Given the description of an element on the screen output the (x, y) to click on. 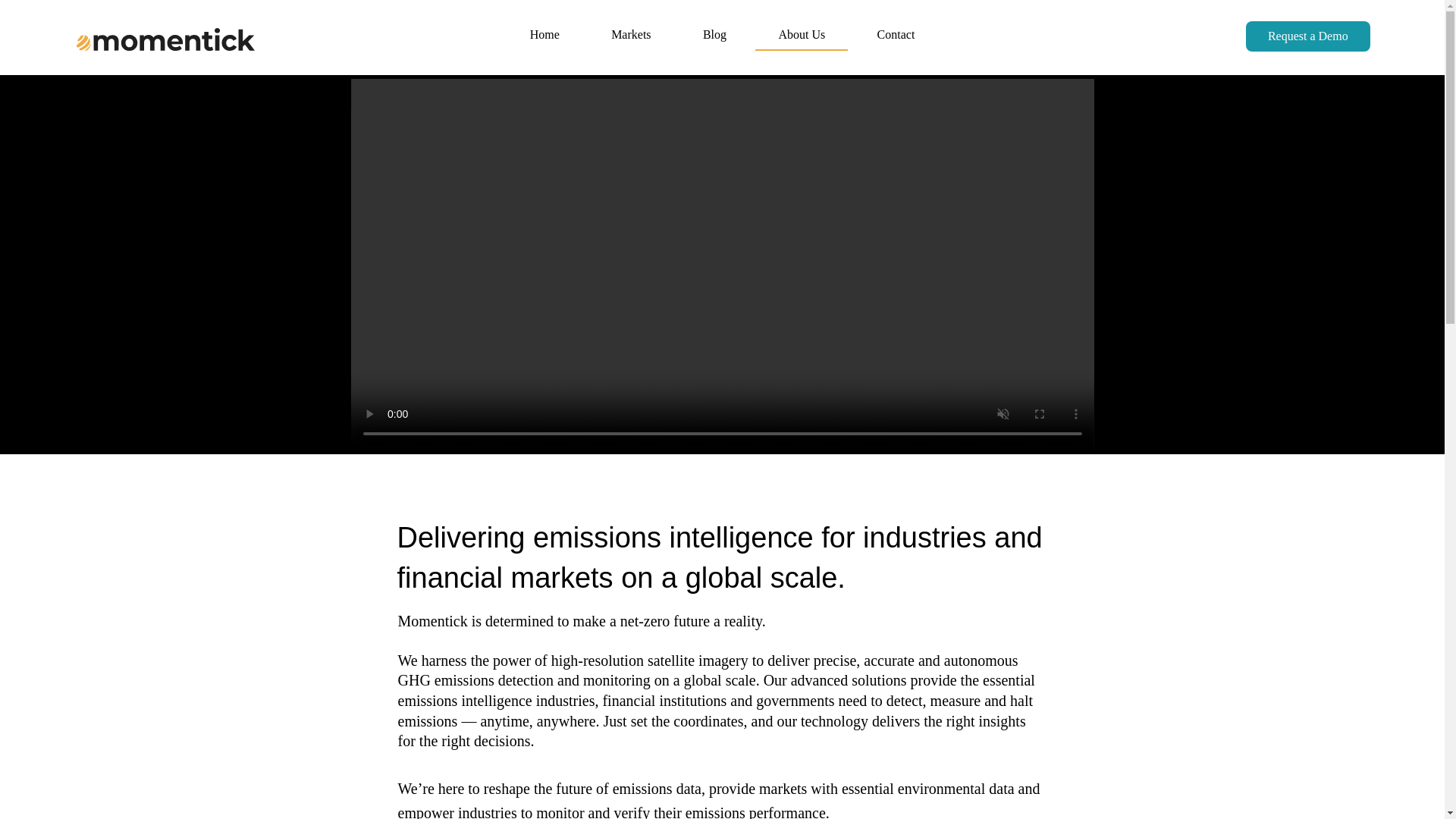
Request a Demo (1308, 36)
Home (543, 35)
Contact (895, 35)
About Us (801, 35)
Blog (714, 35)
